Given the description of an element on the screen output the (x, y) to click on. 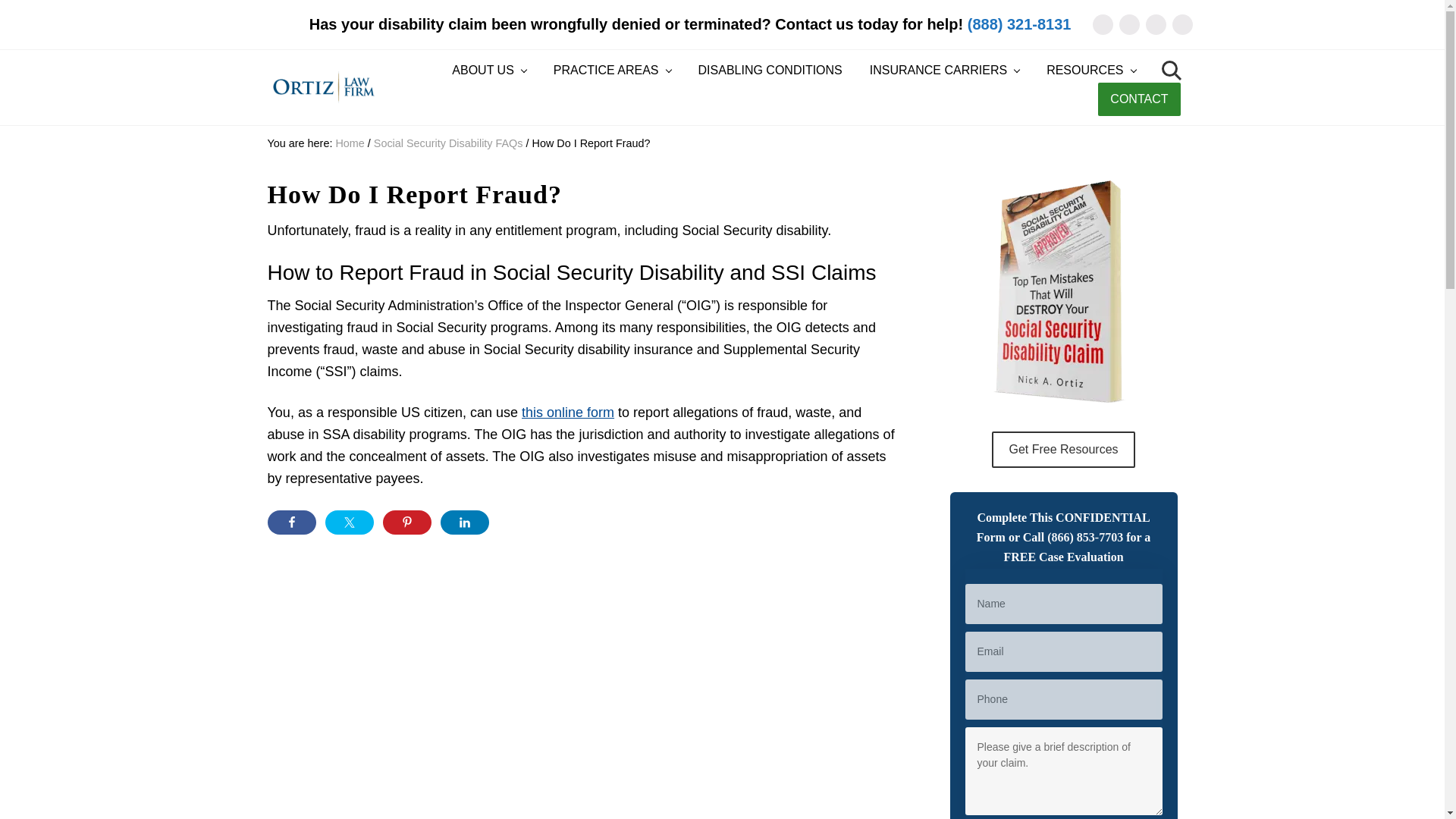
Share on Facebook (290, 522)
YouTube (1182, 24)
Email (1102, 24)
Email (1102, 24)
Facebook (1129, 24)
Facebook (1129, 24)
Share on LinkedIn (463, 522)
Share on Pinterest (405, 522)
ABOUT US (488, 70)
Share on Twitter (348, 522)
DISABLING CONDITIONS (769, 70)
PRACTICE AREAS (611, 70)
INSURANCE CARRIERS (943, 70)
YouTube (1182, 24)
